Given the description of an element on the screen output the (x, y) to click on. 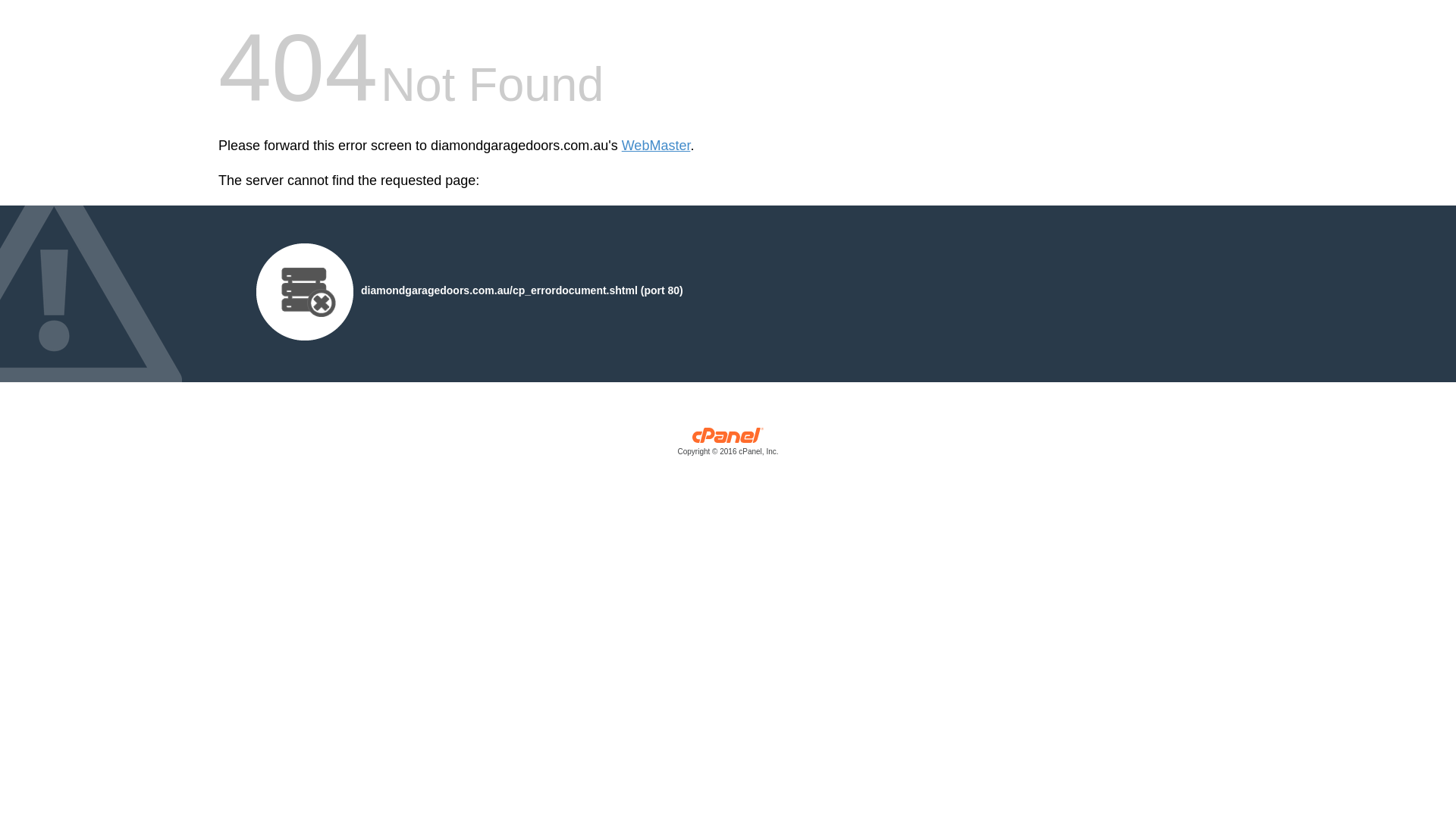
WebMaster Element type: text (655, 145)
